Given the description of an element on the screen output the (x, y) to click on. 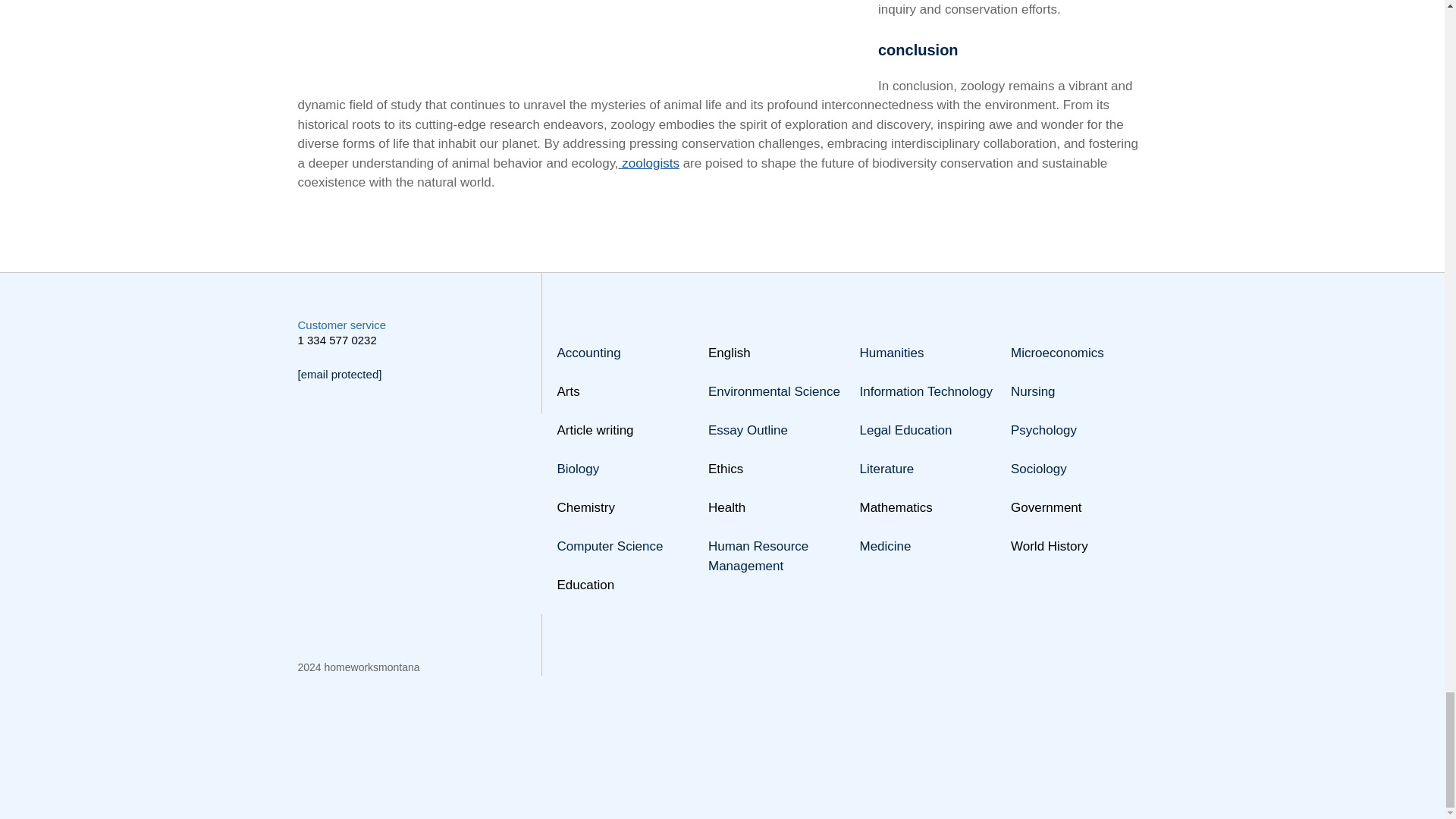
Nursing (1032, 391)
Legal Education (906, 430)
Literature (887, 468)
zoologists (648, 163)
Medicine (885, 545)
Humanities (892, 352)
Microeconomics (1056, 352)
Biology (577, 468)
Environmental Science (773, 391)
Information Technology (926, 391)
